Given the description of an element on the screen output the (x, y) to click on. 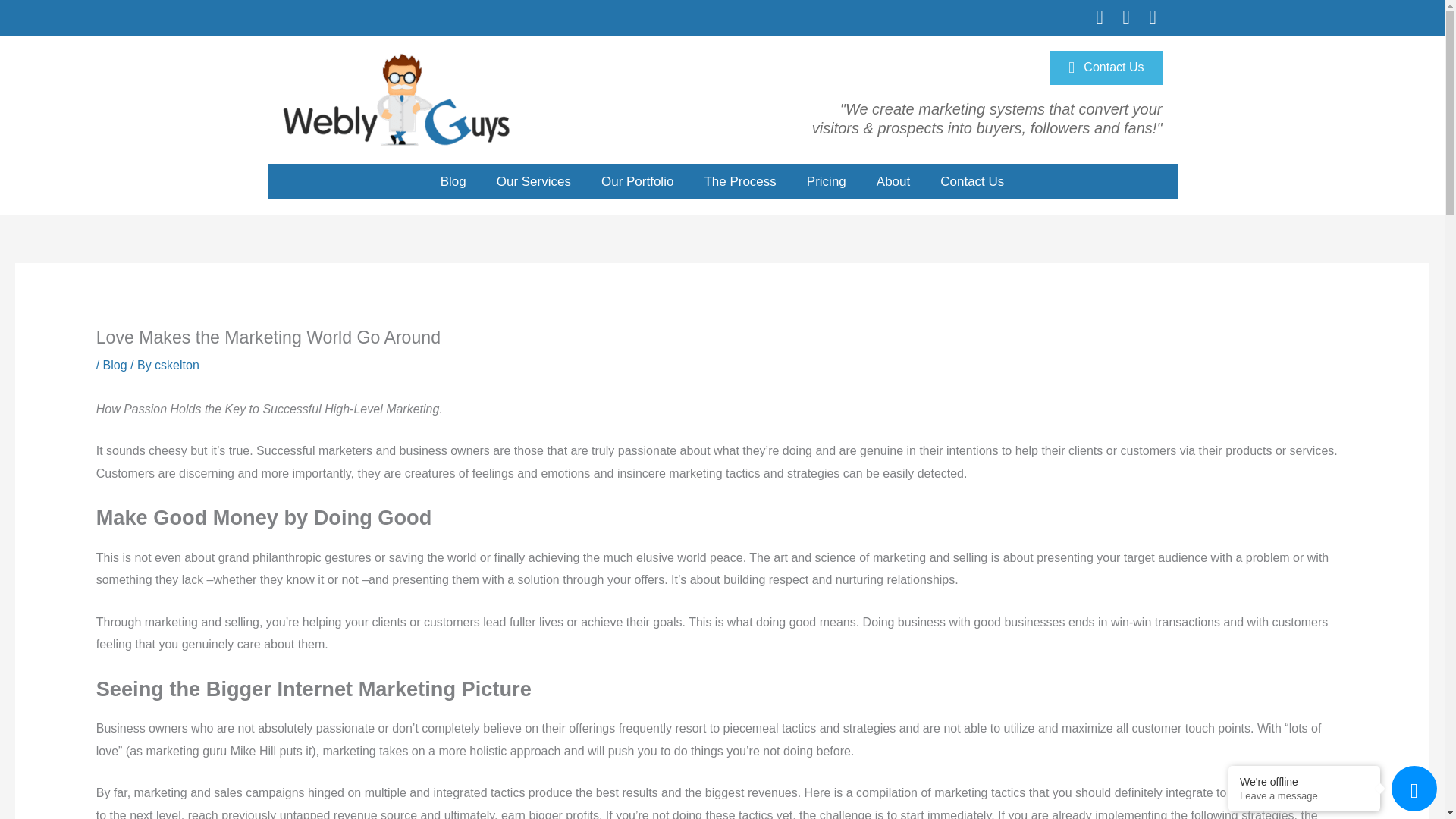
Pricing (826, 181)
About (892, 181)
We're offline (1304, 781)
Blog (453, 181)
cskelton (176, 364)
Our Portfolio (637, 181)
Our Services (533, 181)
The Process (739, 181)
Blog (115, 364)
Contact Us (971, 181)
Contact Us (1105, 67)
View all posts by cskelton (176, 364)
